Given the description of an element on the screen output the (x, y) to click on. 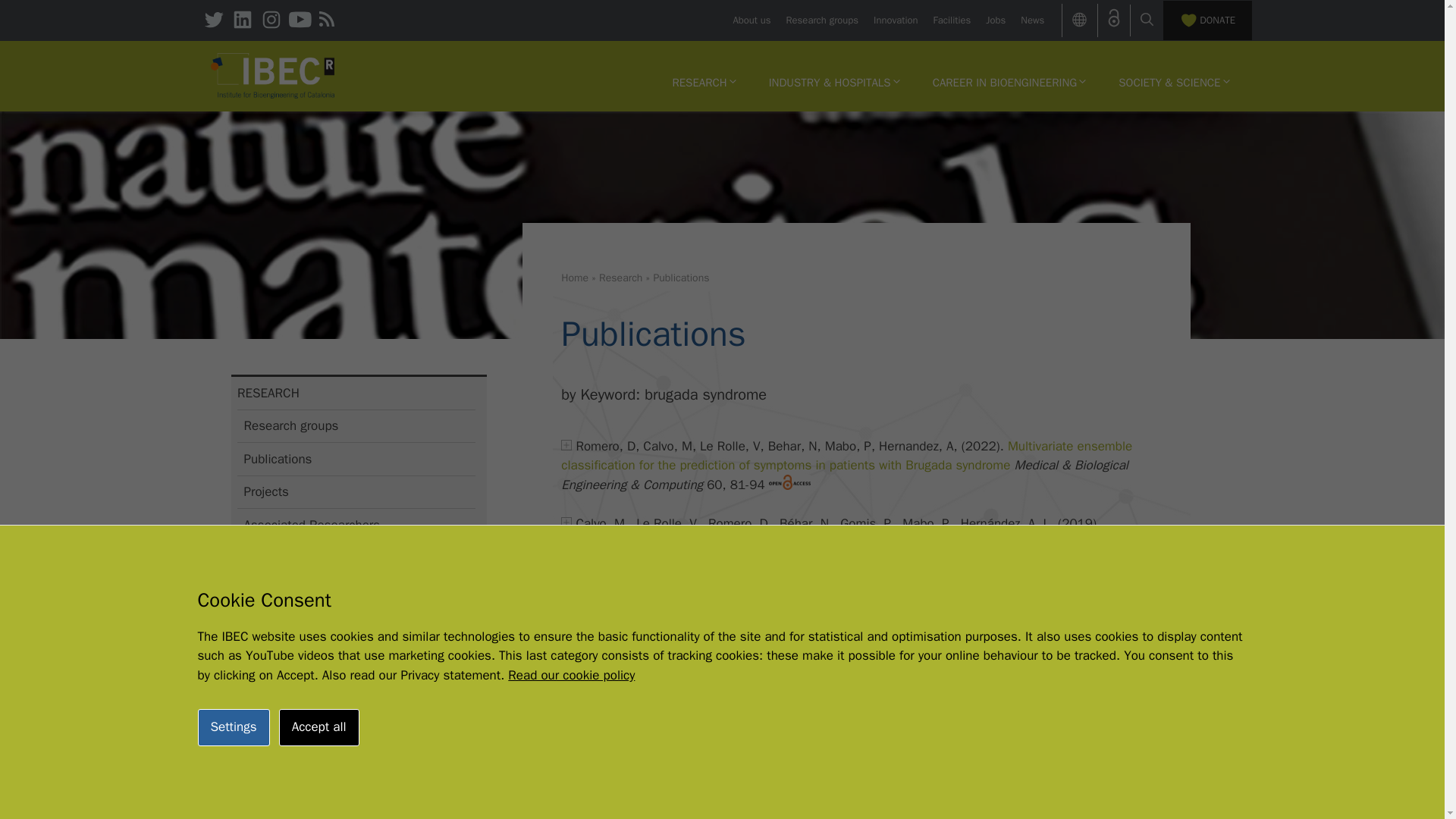
Jobs (995, 19)
Innovation (895, 19)
About us (751, 19)
News (1031, 19)
Facilities (952, 19)
Institute for Bioengineering of Catalonia (272, 74)
Research groups (822, 19)
DONATE (1207, 20)
Institute for Bioengineering of Catalonia (272, 75)
RESEARCH (704, 81)
